Given the description of an element on the screen output the (x, y) to click on. 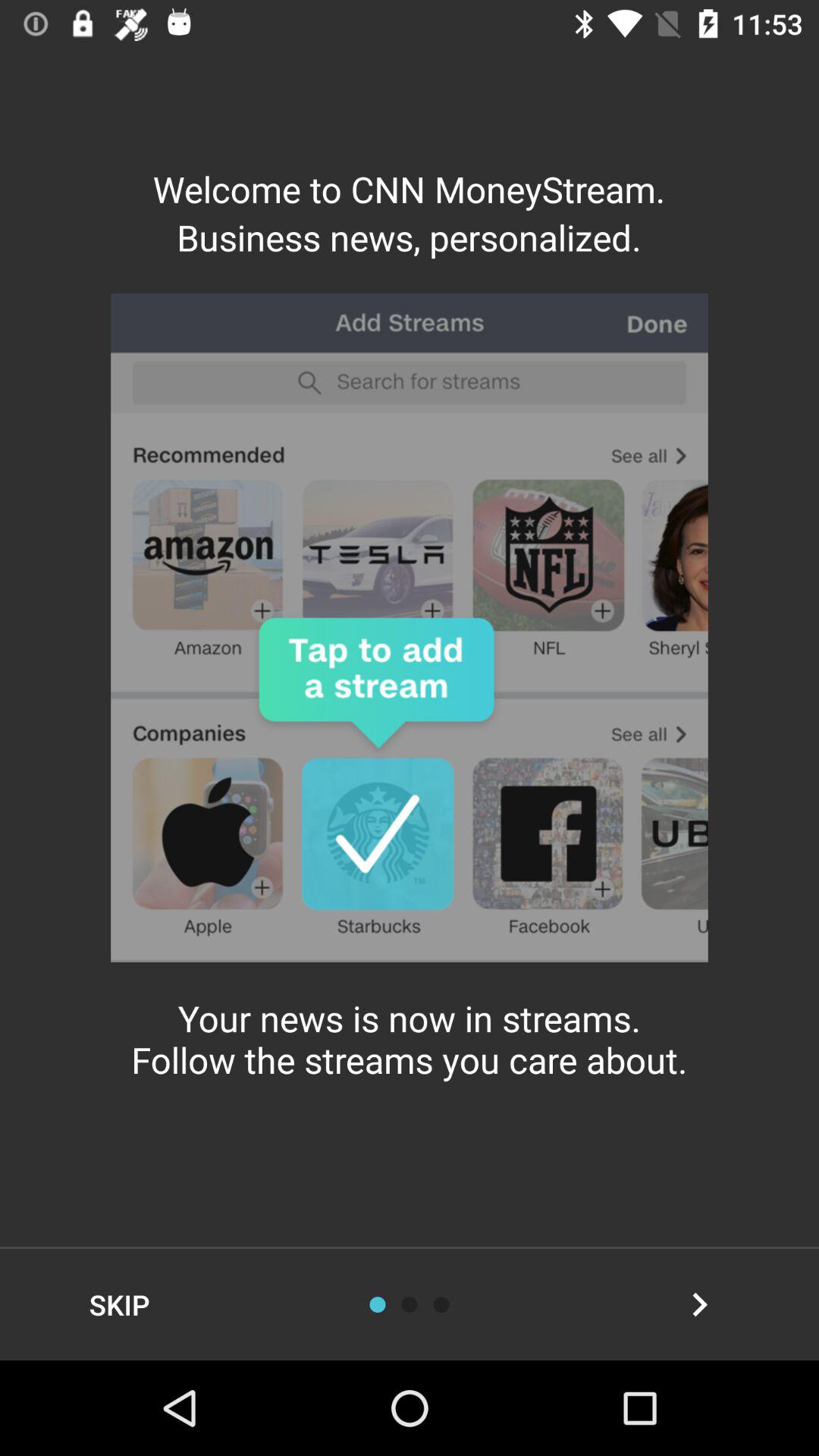
go to next page (699, 1304)
